Given the description of an element on the screen output the (x, y) to click on. 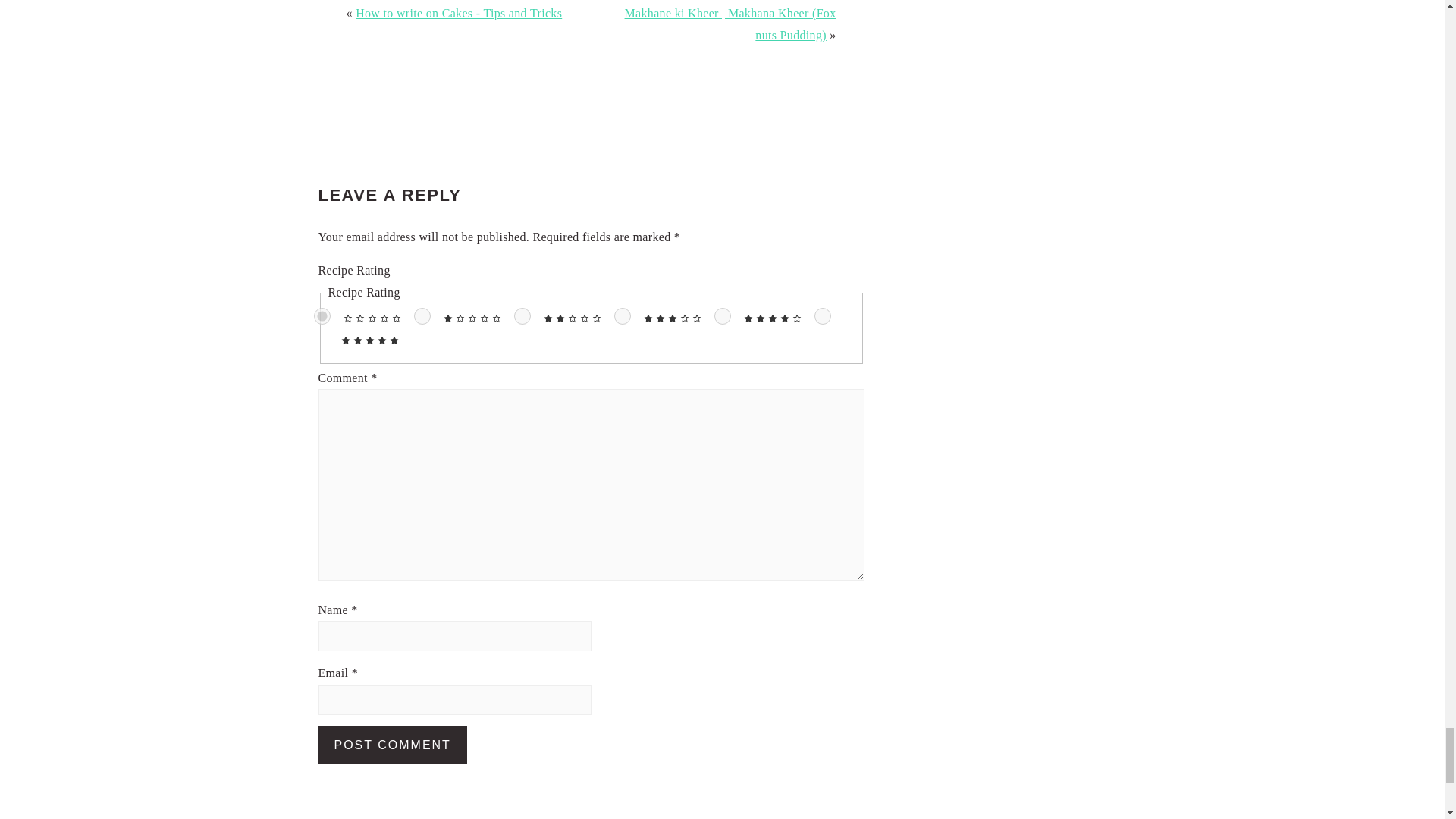
2 (522, 315)
3 (622, 315)
4 (722, 315)
1 (421, 315)
5 (822, 315)
0 (322, 315)
